Given the description of an element on the screen output the (x, y) to click on. 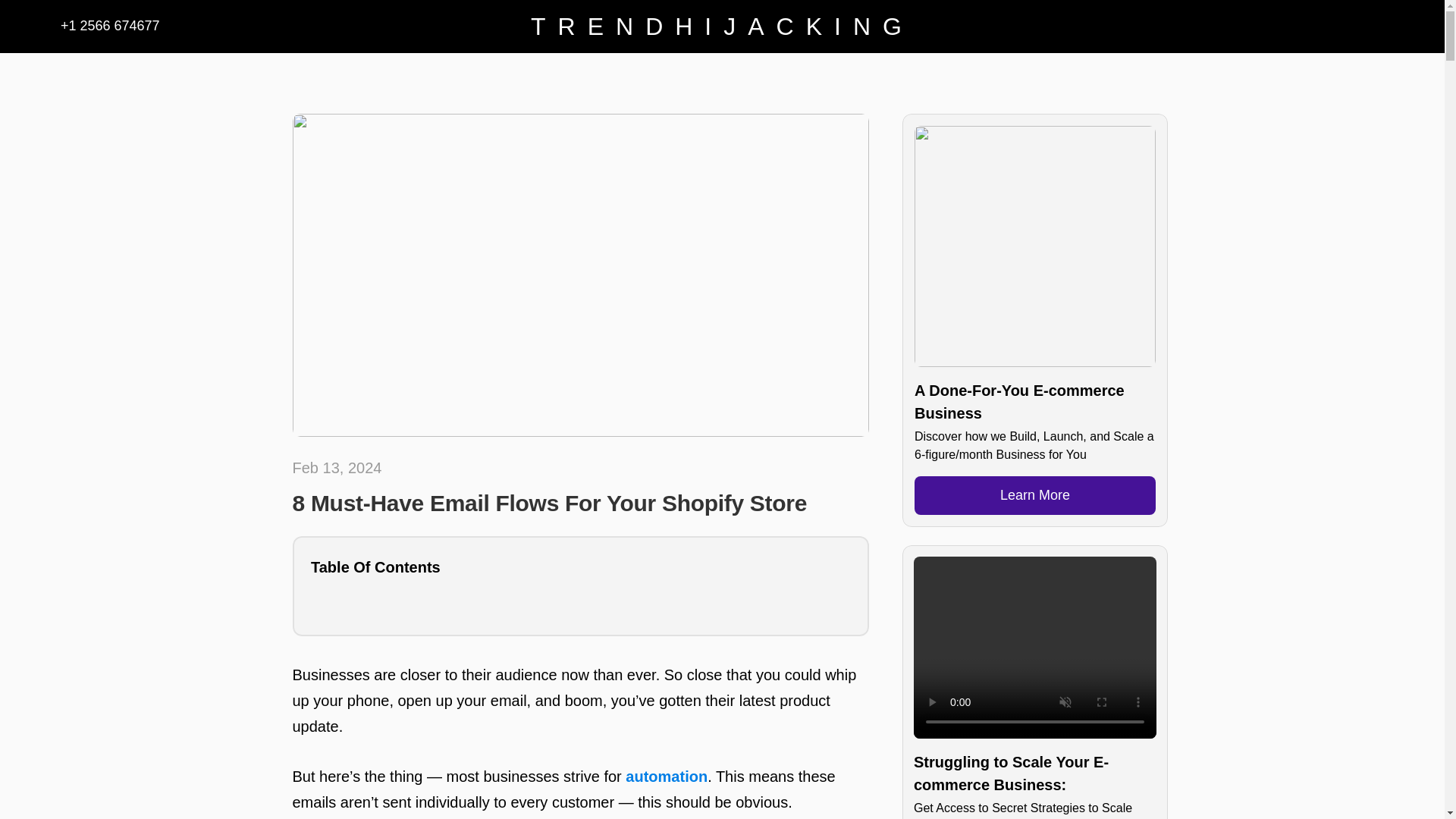
TRENDHIJACKING (722, 26)
